Given the description of an element on the screen output the (x, y) to click on. 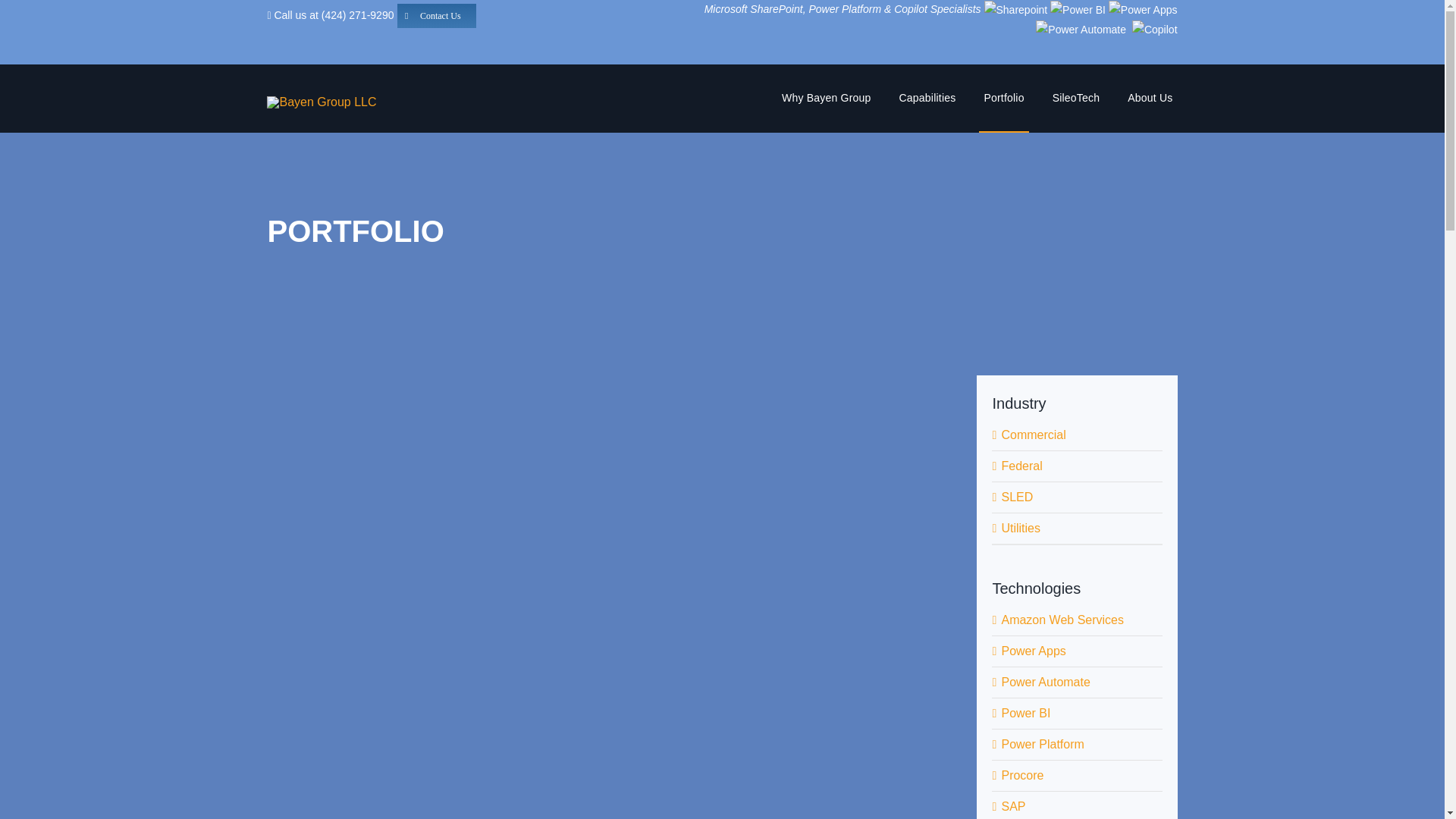
Power BI (1077, 9)
Why Bayen Group (826, 98)
Copilot (1153, 29)
Power Apps (1142, 9)
Power Automate (1080, 29)
Sharepoint (1016, 9)
Capabilities (927, 98)
Contact Us (436, 14)
Contact Us (436, 14)
